Given the description of an element on the screen output the (x, y) to click on. 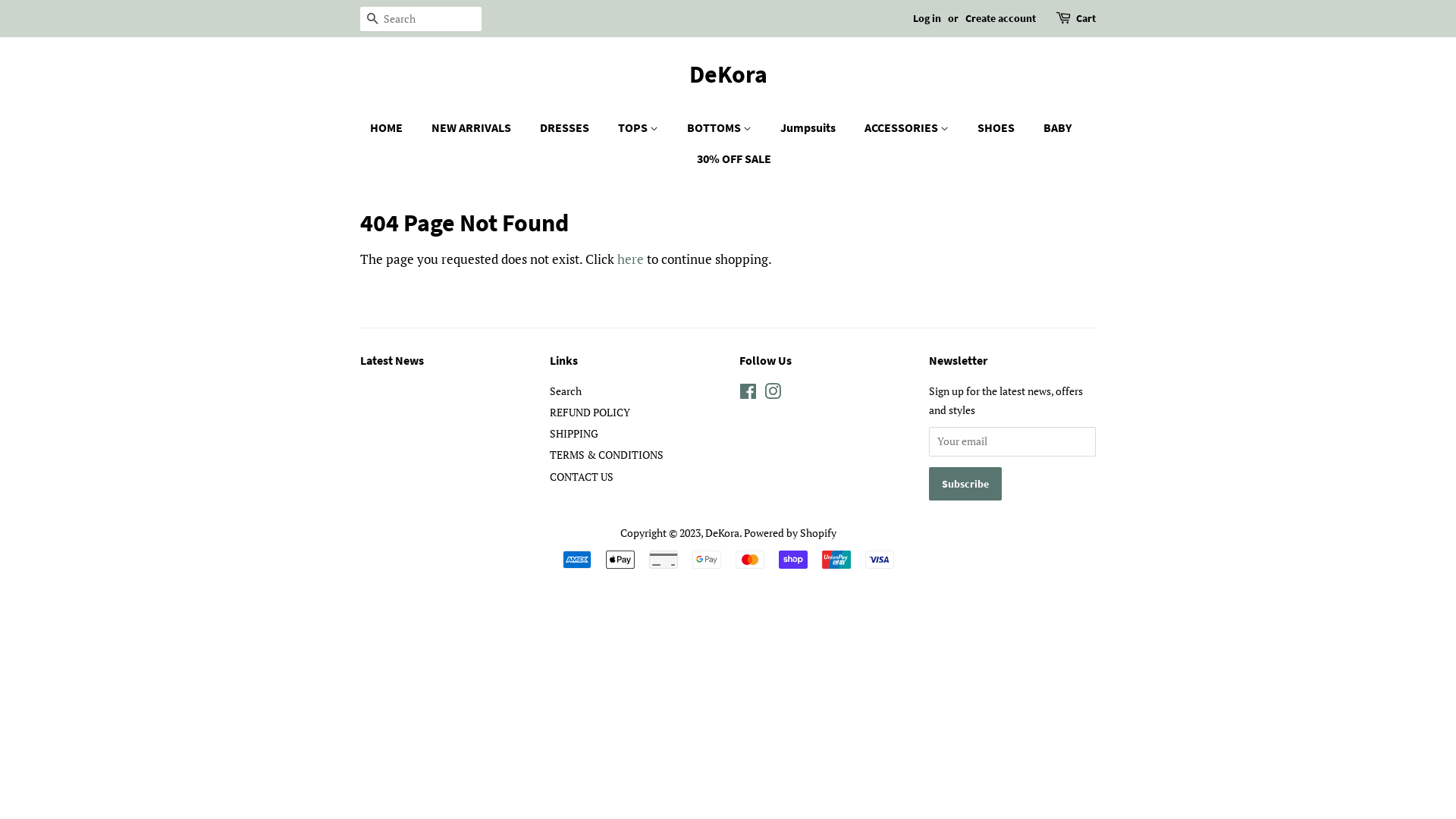
DeKora Element type: text (722, 532)
Search Element type: text (372, 18)
DeKora Element type: text (727, 73)
CONTACT US Element type: text (581, 476)
Log in Element type: text (927, 18)
30% OFF SALE Element type: text (728, 158)
here Element type: text (630, 258)
Latest News Element type: text (391, 359)
Facebook Element type: text (747, 393)
DRESSES Element type: text (565, 127)
Search Element type: text (565, 390)
TOPS Element type: text (639, 127)
TERMS & CONDITIONS Element type: text (606, 454)
SHOES Element type: text (997, 127)
Powered by Shopify Element type: text (789, 532)
BABY Element type: text (1058, 127)
NEW ARRIVALS Element type: text (473, 127)
Cart Element type: text (1085, 18)
BOTTOMS Element type: text (719, 127)
Jumpsuits Element type: text (809, 127)
Instagram Element type: text (772, 393)
SHIPPING Element type: text (573, 433)
Create account Element type: text (1000, 18)
Subscribe Element type: text (964, 483)
HOME Element type: text (393, 127)
REFUND POLICY Element type: text (589, 411)
ACCESSORIES Element type: text (907, 127)
